Given the description of an element on the screen output the (x, y) to click on. 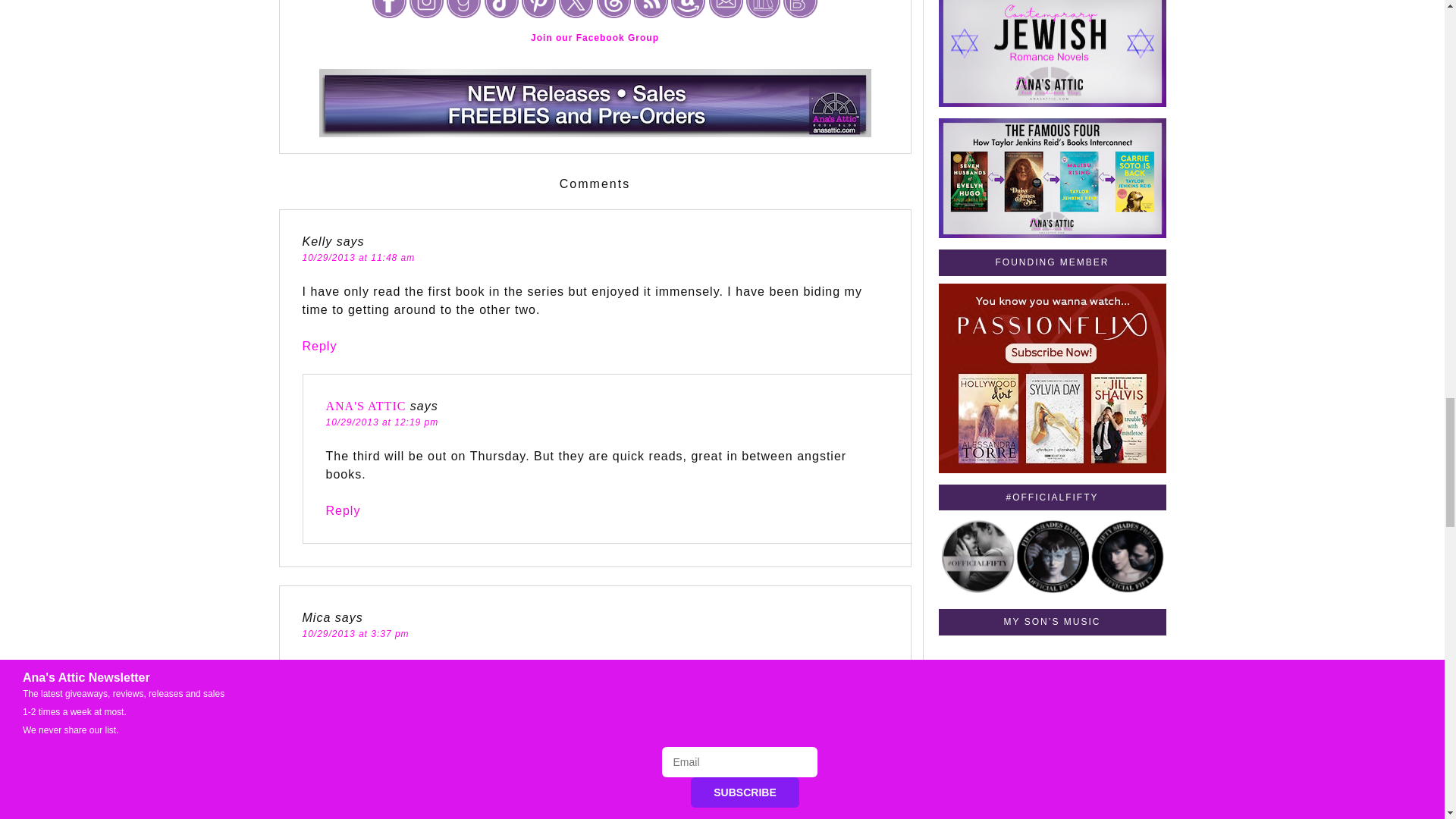
Founding Member (1052, 378)
